Given the description of an element on the screen output the (x, y) to click on. 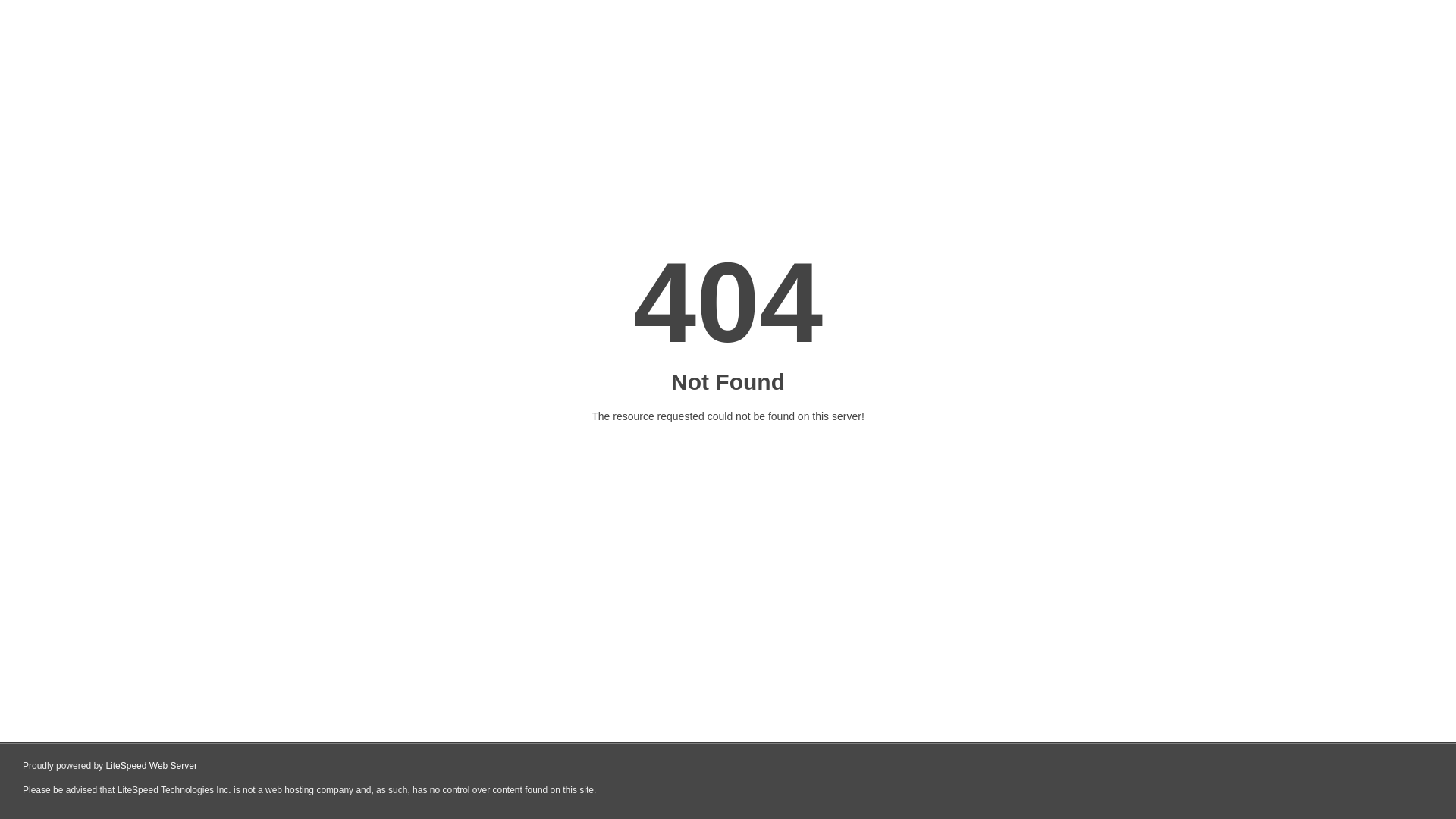
LiteSpeed Web Server Element type: text (151, 765)
